Given the description of an element on the screen output the (x, y) to click on. 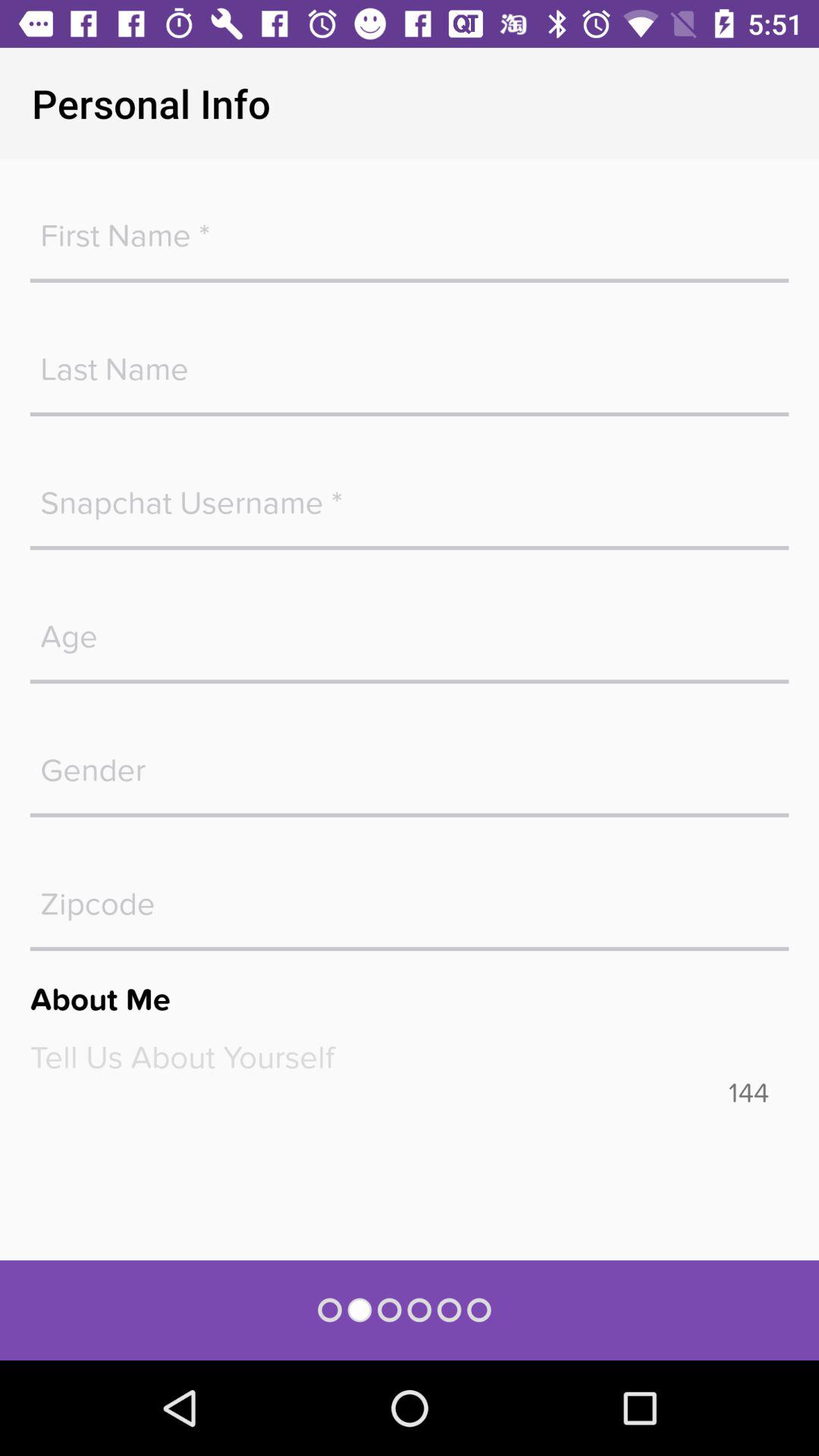
enter text (409, 1057)
